Given the description of an element on the screen output the (x, y) to click on. 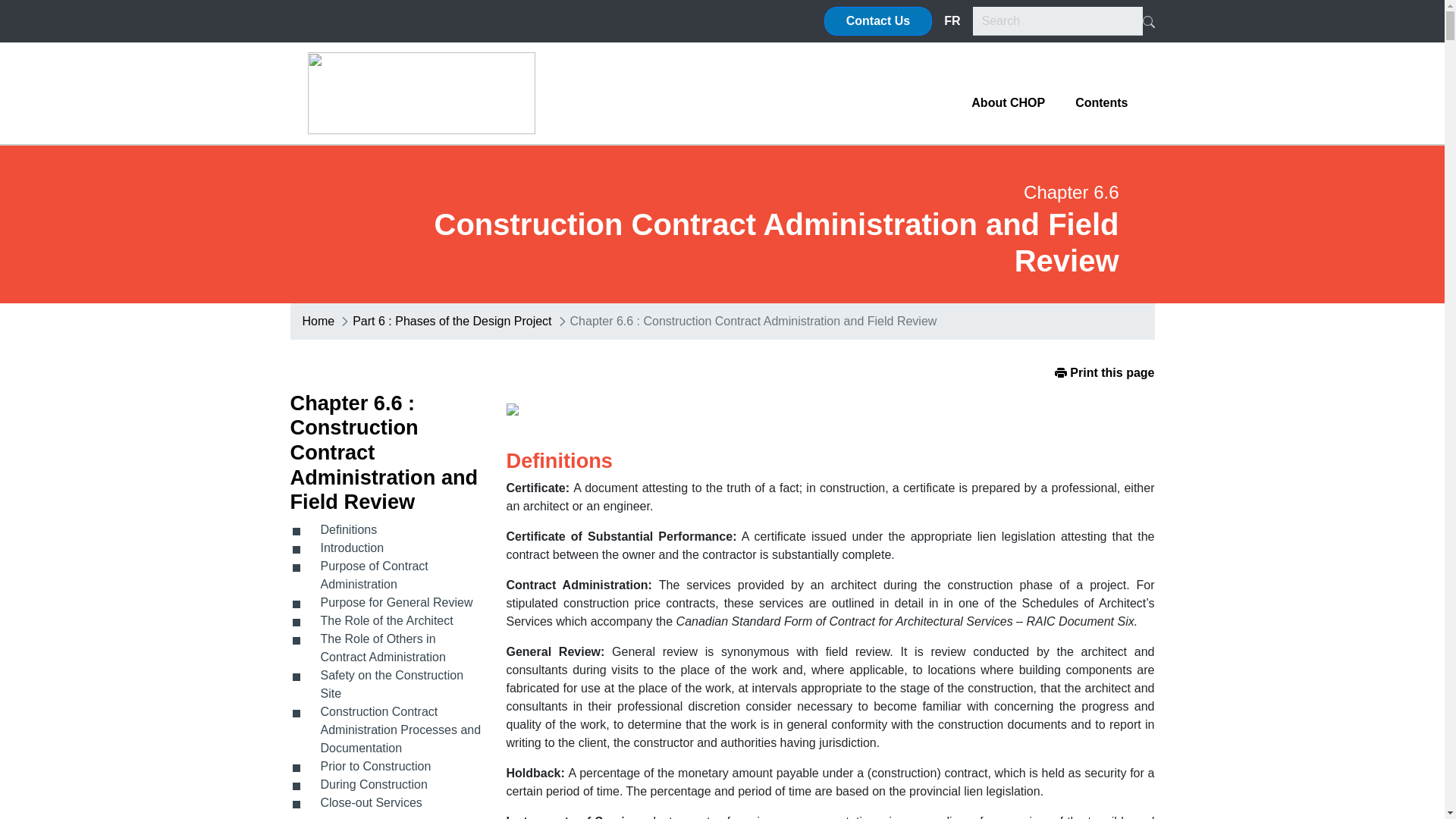
Contents (1100, 103)
FR (951, 20)
Go to RAIC (421, 93)
About CHOP (1007, 103)
Contact Us (877, 21)
